Given the description of an element on the screen output the (x, y) to click on. 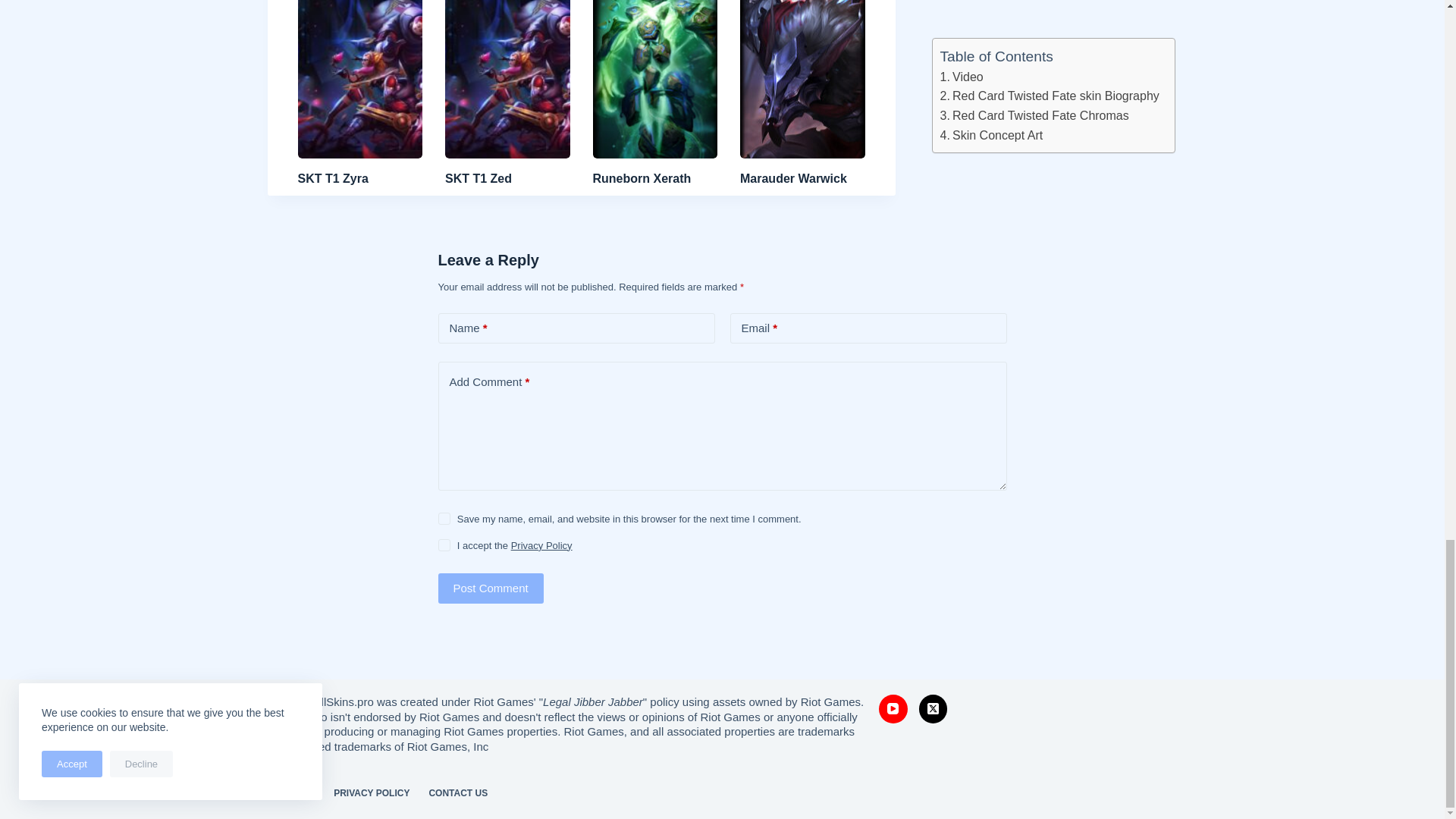
SKT T1 Zyra (332, 178)
SKT T1 Zed (478, 178)
yes (443, 518)
on (443, 544)
Marauder Warwick (793, 178)
Runeborn Xerath (641, 178)
